Given the description of an element on the screen output the (x, y) to click on. 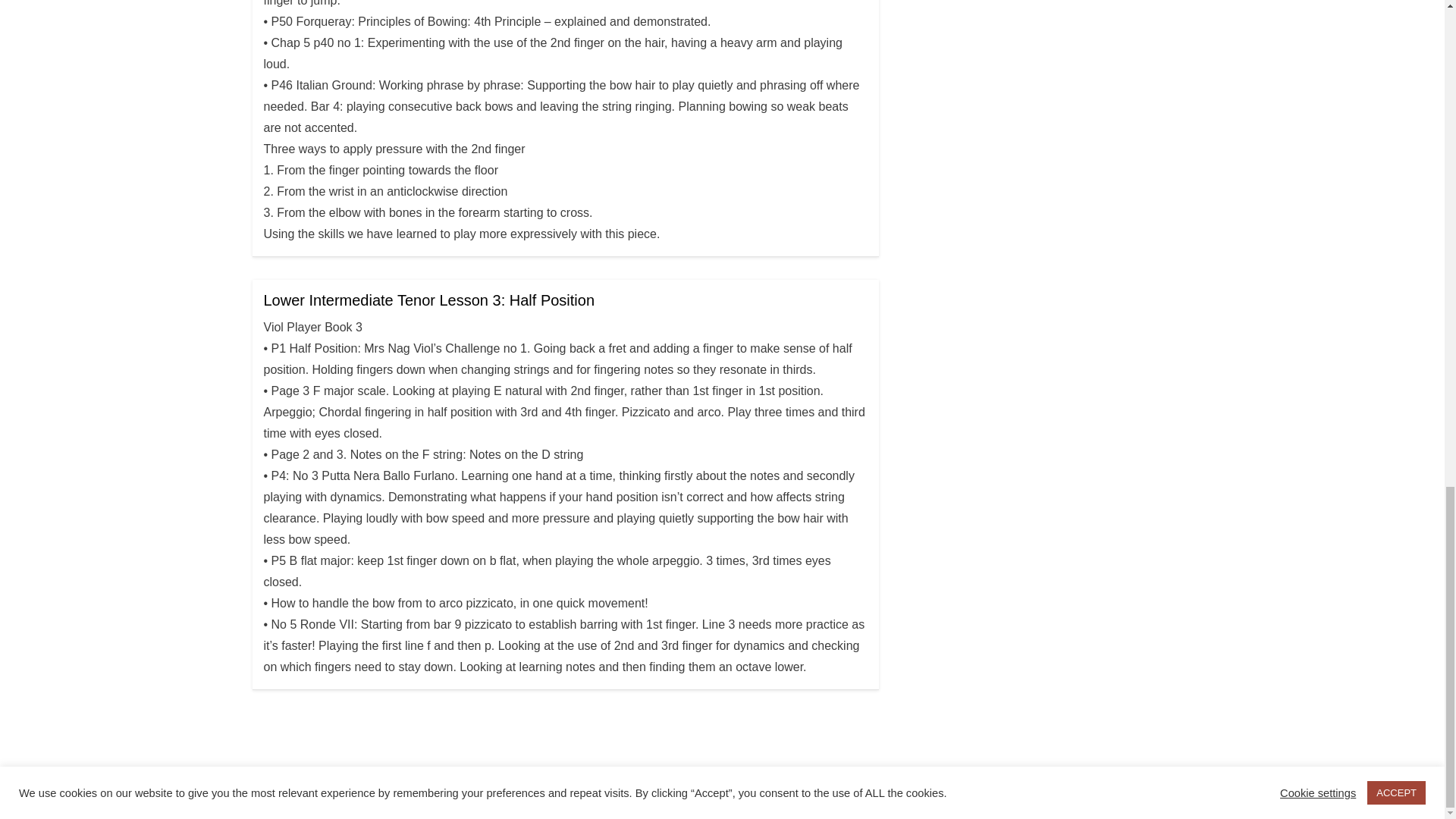
Lower Intermediate Tenor Lesson 3: Half Position (429, 299)
